Given the description of an element on the screen output the (x, y) to click on. 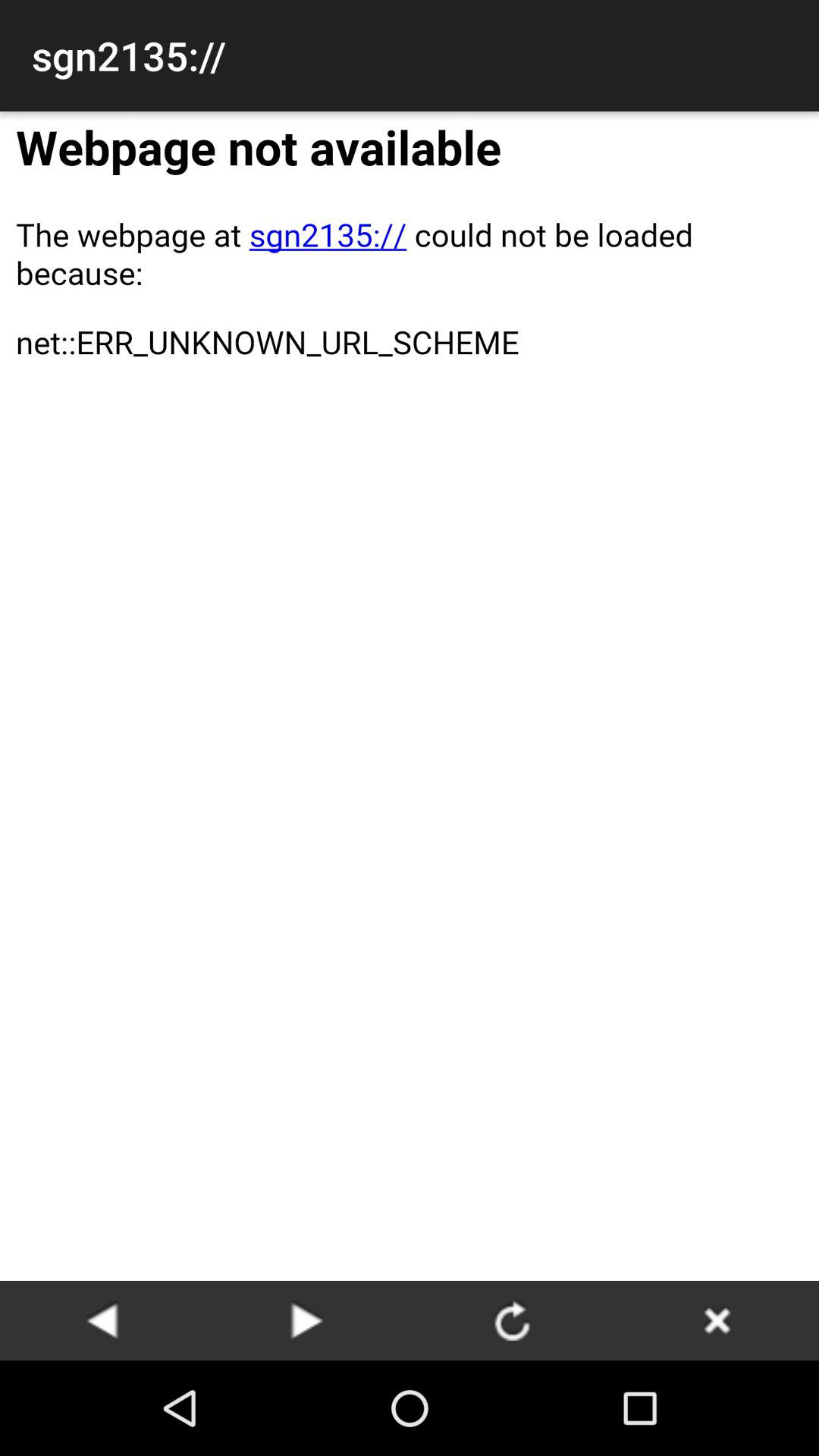
reload (511, 1320)
